Given the description of an element on the screen output the (x, y) to click on. 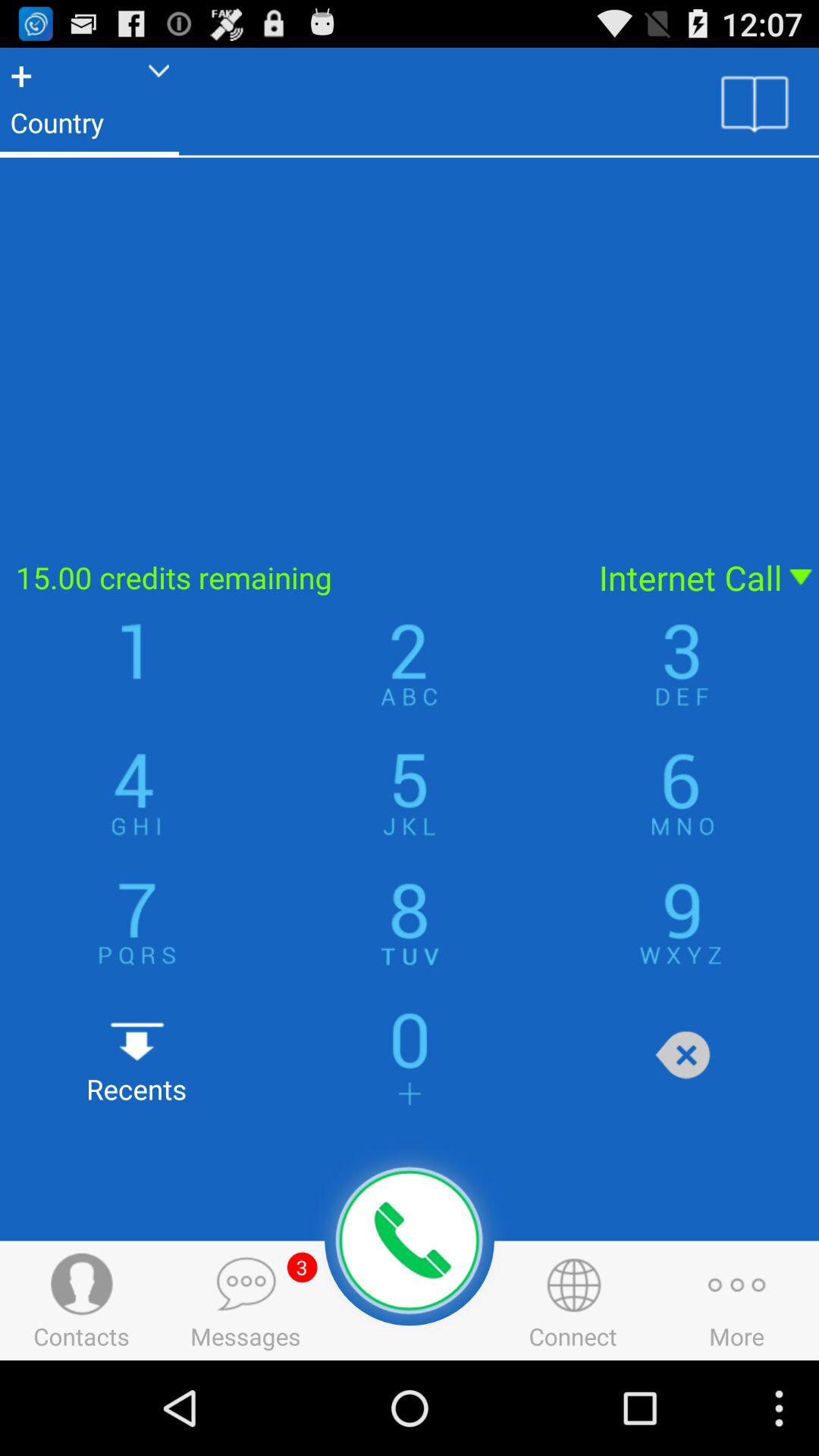
select the item to the left of internet call icon (290, 577)
